Given the description of an element on the screen output the (x, y) to click on. 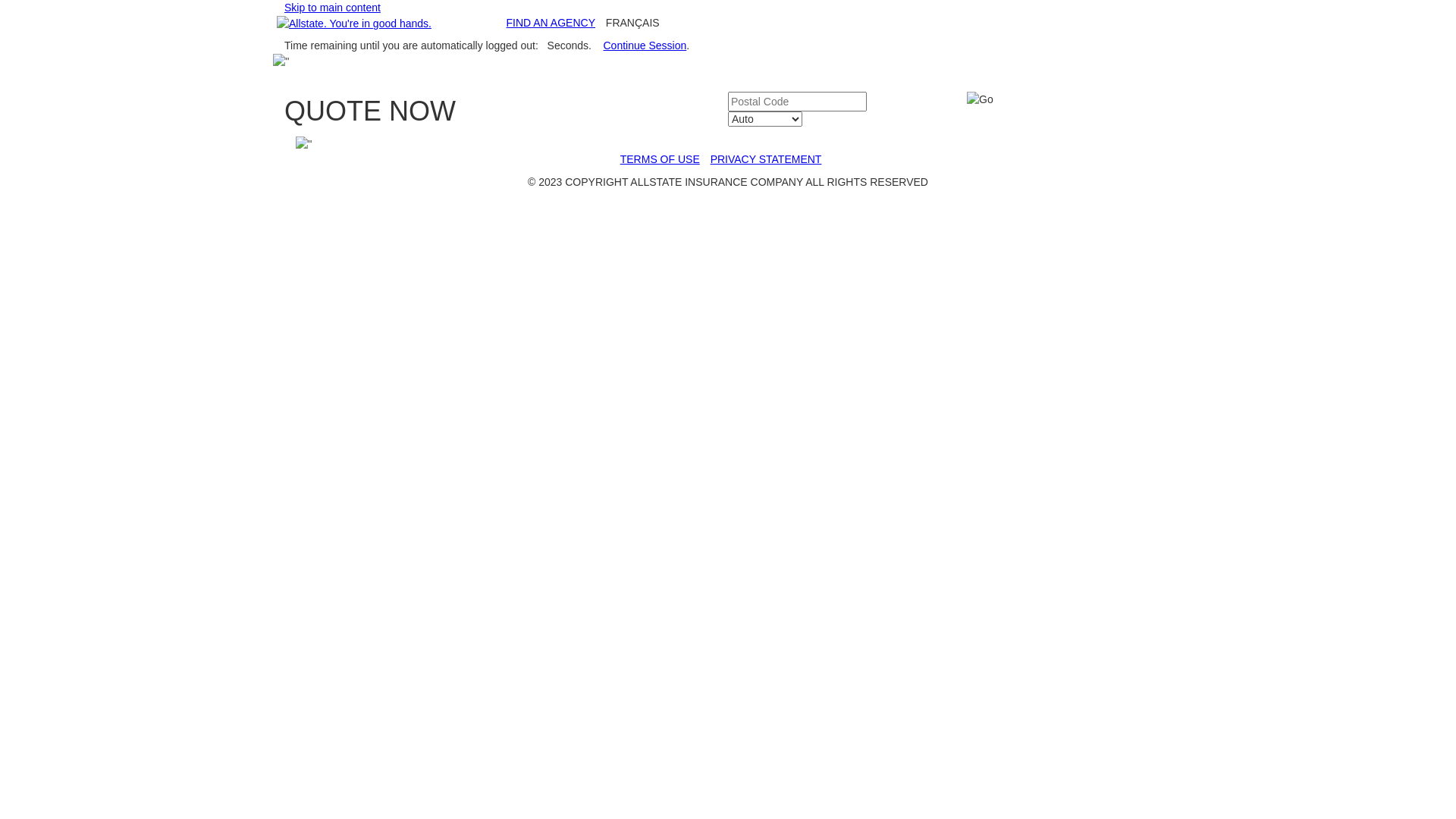
PRIVACY STATEMENT Element type: text (766, 159)
Allstate Insurance Element type: hover (353, 23)
Skip to main content Element type: text (332, 7)
Continue Session Element type: text (645, 45)
FIND AN AGENCY Element type: text (550, 22)
Go Element type: hover (979, 98)
Home,opens in a new window Element type: hover (353, 22)
TERMS OF USE Element type: text (659, 159)
